Given the description of an element on the screen output the (x, y) to click on. 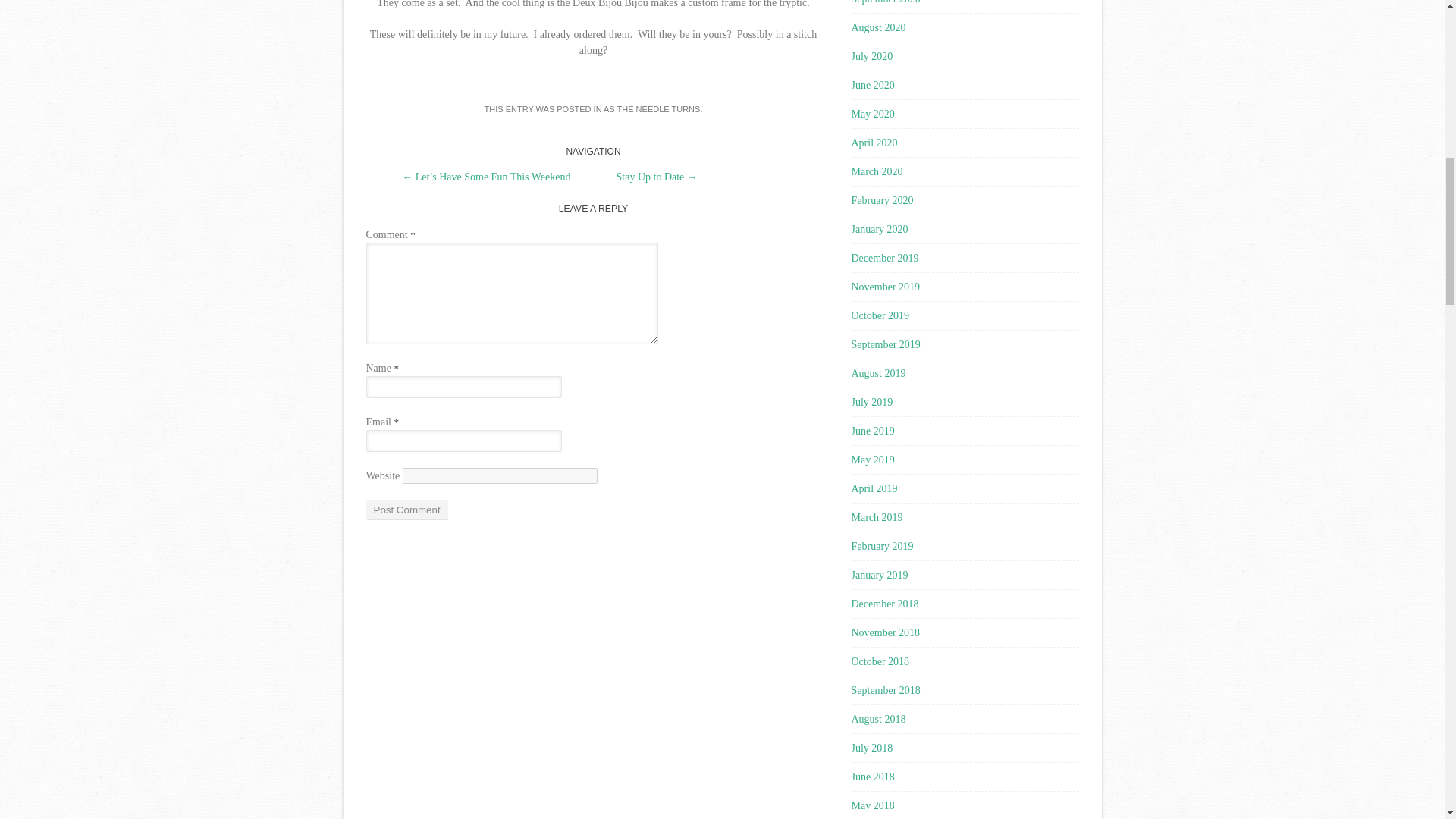
September 2020 (885, 2)
Post Comment (405, 509)
AS THE NEEDLE TURNS (652, 108)
May 2020 (871, 113)
June 2020 (871, 84)
Post Comment (405, 509)
July 2020 (871, 56)
April 2020 (873, 142)
August 2020 (877, 27)
